Given the description of an element on the screen output the (x, y) to click on. 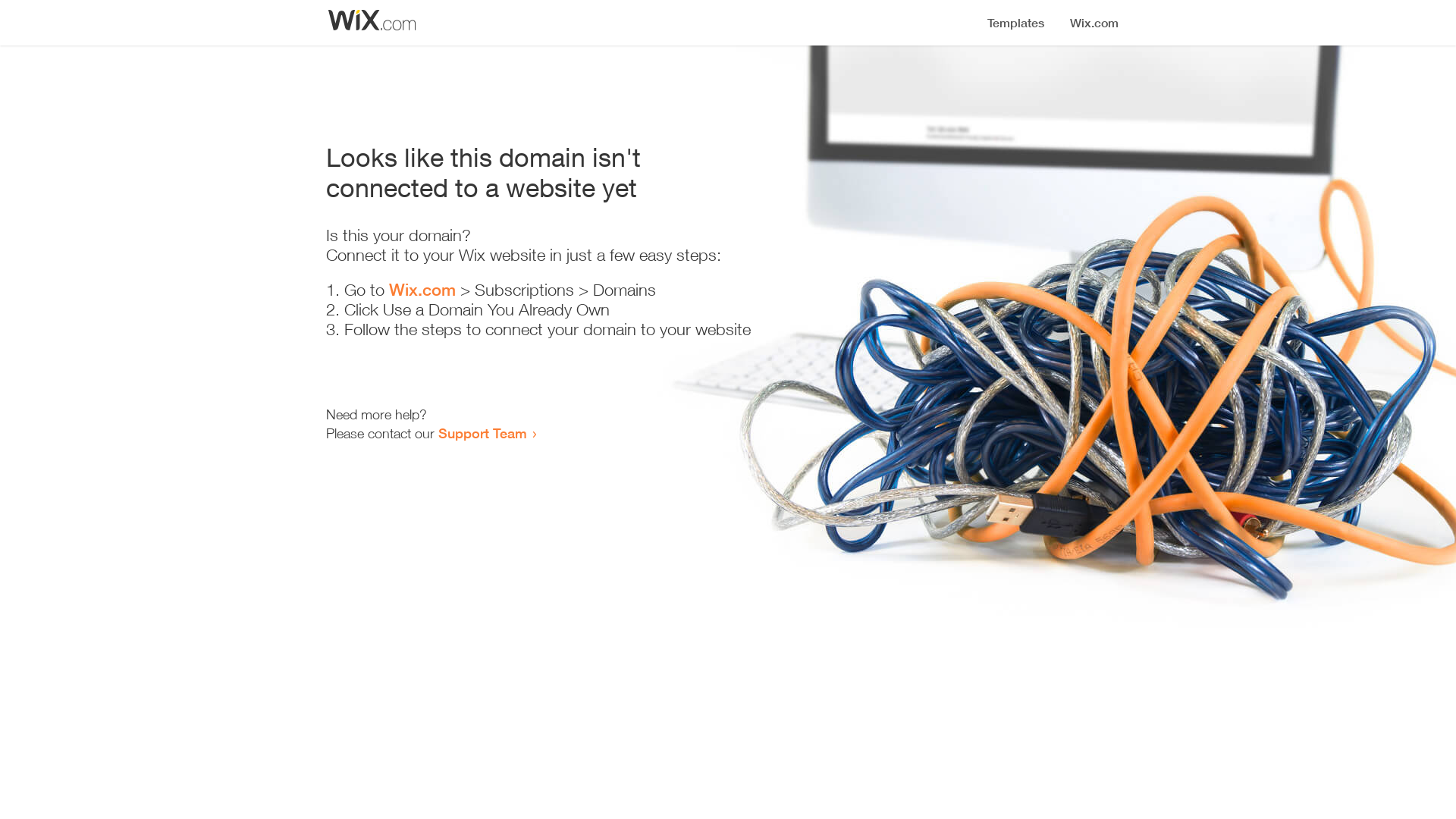
Wix.com Element type: text (422, 289)
Support Team Element type: text (482, 432)
